Given the description of an element on the screen output the (x, y) to click on. 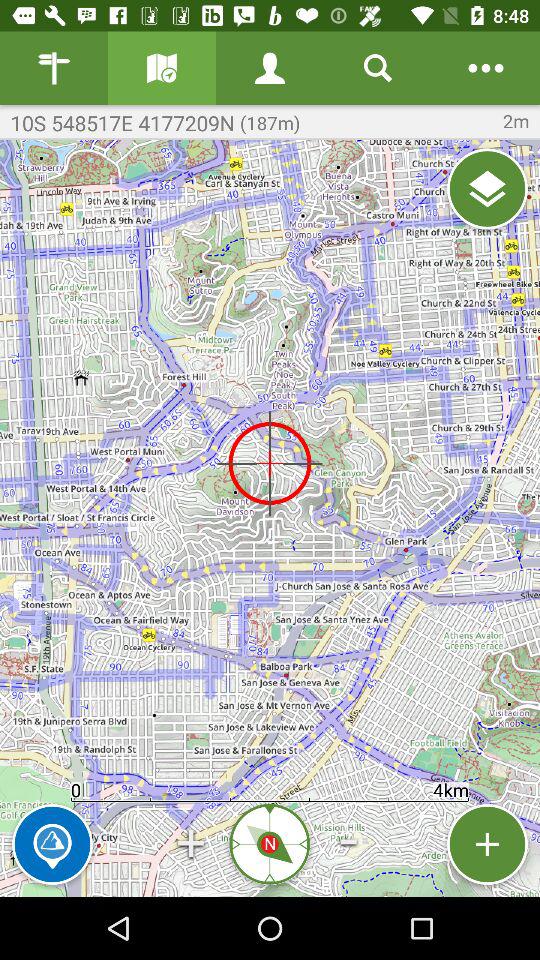
tap the icon to the left of + icon (52, 843)
